Given the description of an element on the screen output the (x, y) to click on. 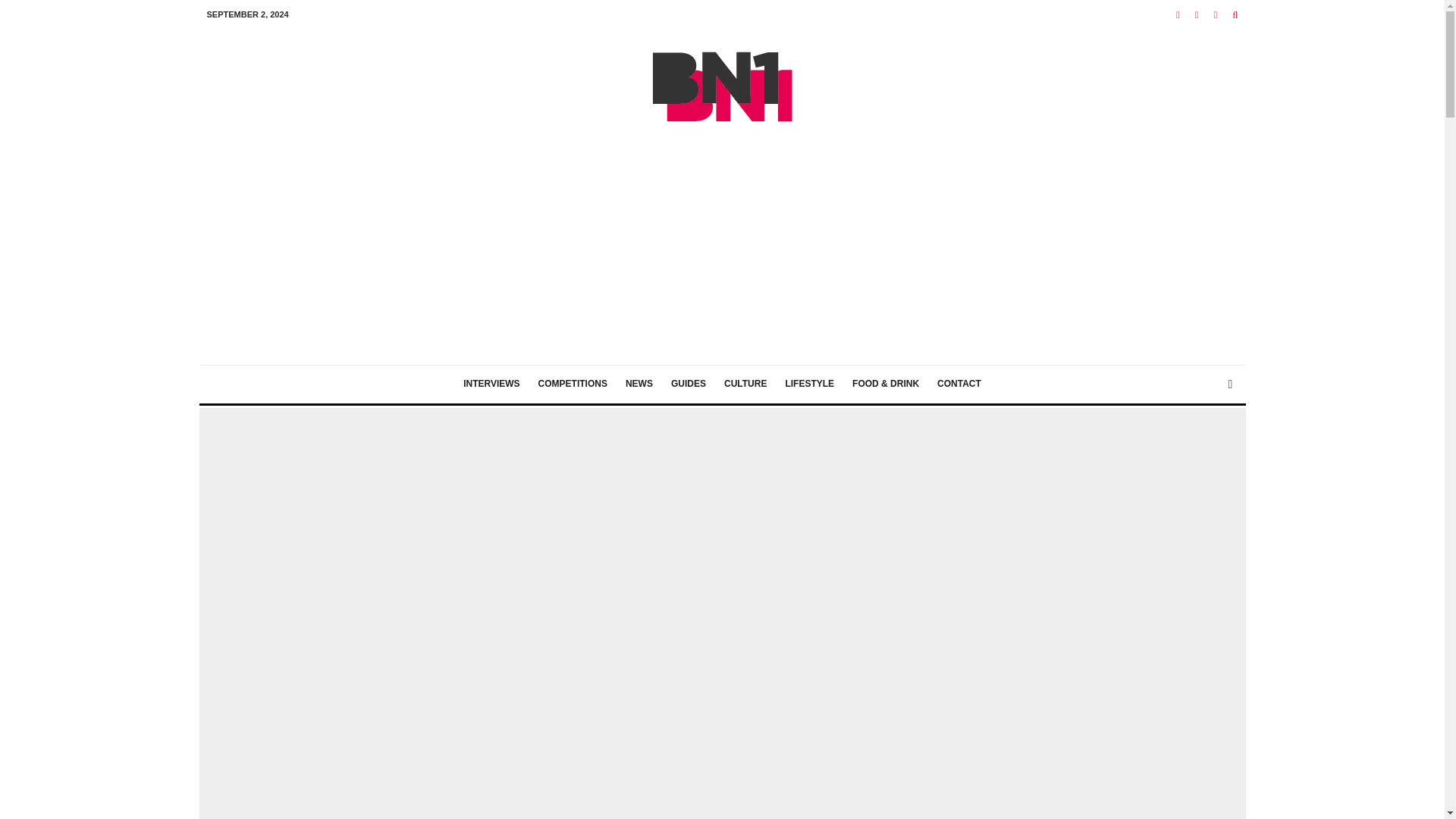
COMPETITIONS (572, 384)
INTERVIEWS (491, 384)
NEWS (638, 384)
GUIDES (688, 384)
